Given the description of an element on the screen output the (x, y) to click on. 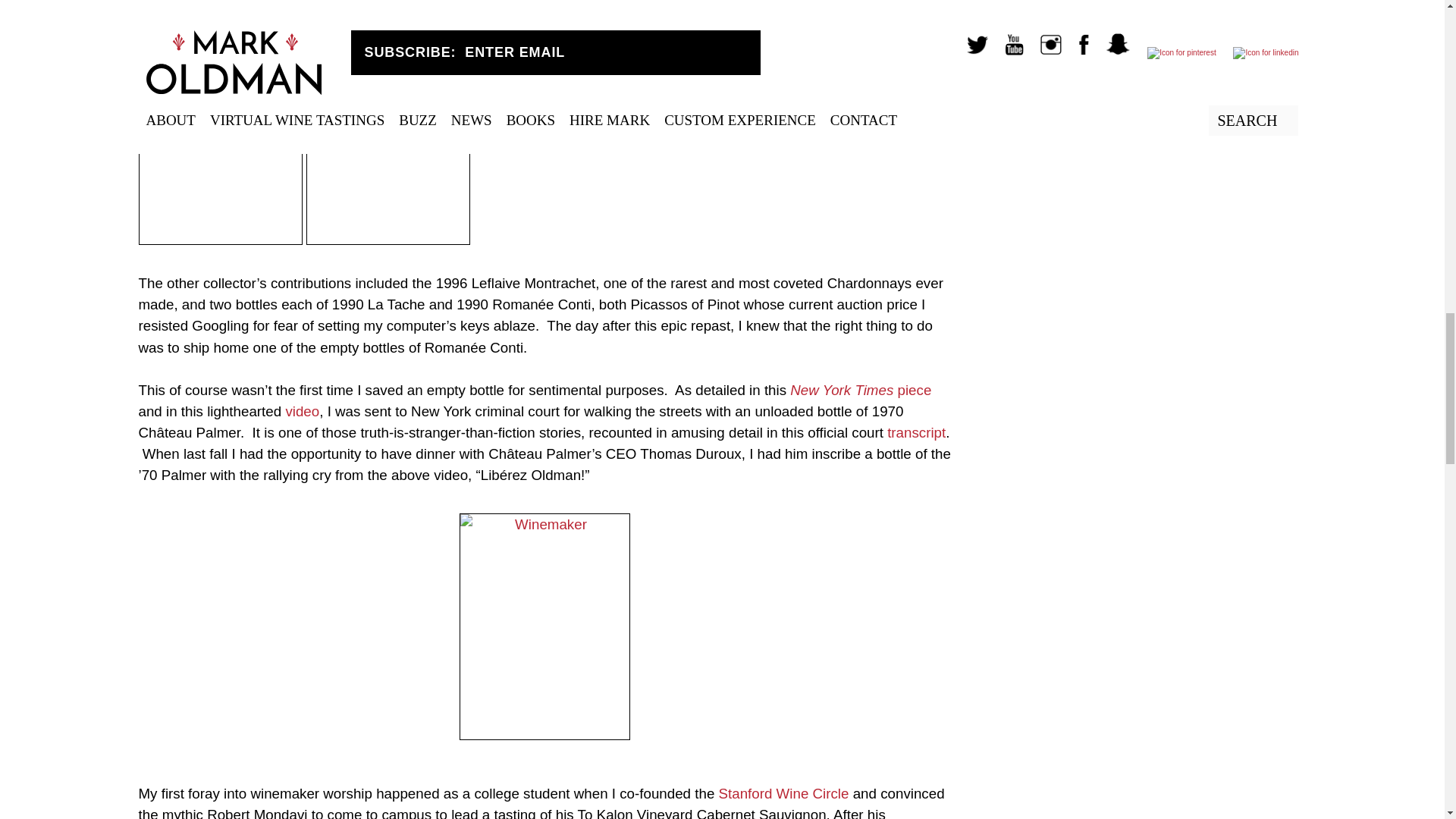
video (301, 411)
Stanford Wine Circle (783, 793)
transcript (915, 432)
Liberez Oldman (545, 626)
New York Times piece (860, 390)
